Given the description of an element on the screen output the (x, y) to click on. 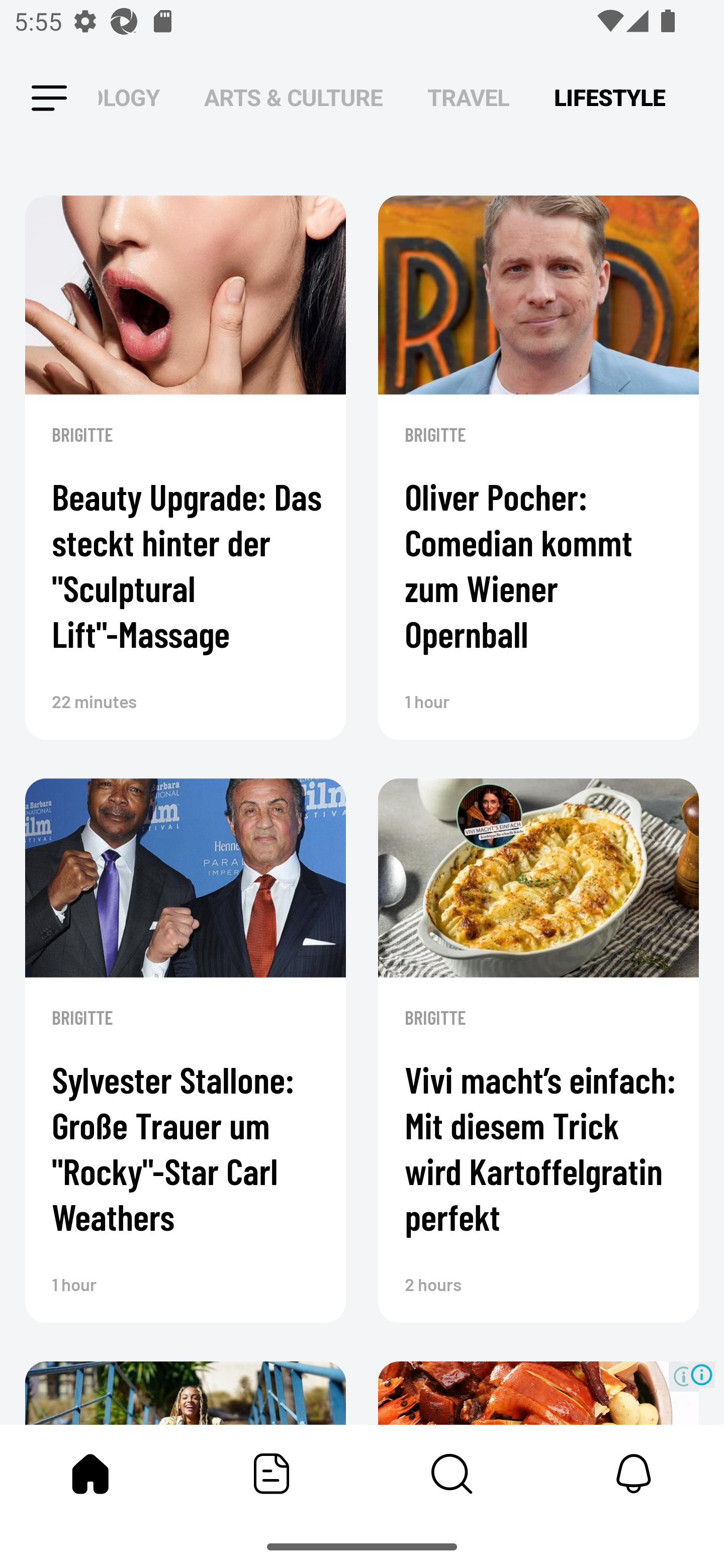
Leading Icon (49, 98)
TECHNOLOGY (129, 97)
ARTS & CULTURE (293, 97)
TRAVEL (468, 97)
Ad Choices Icon (701, 1374)
Featured (271, 1473)
Content Store (452, 1473)
Notifications (633, 1473)
